Given the description of an element on the screen output the (x, y) to click on. 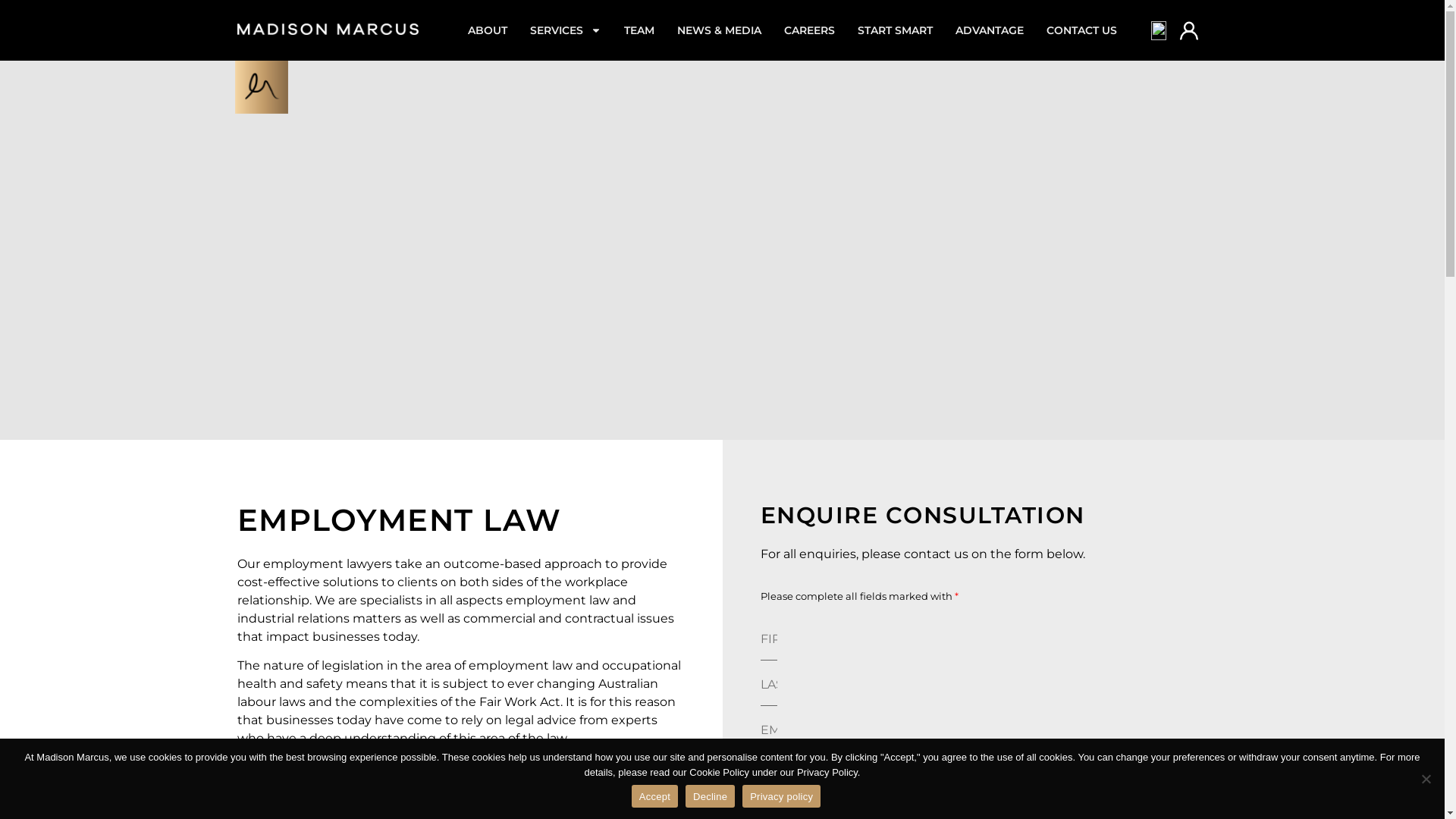
ABOUT Element type: text (487, 30)
CONTACT US Element type: text (1081, 30)
Decline Element type: text (709, 795)
NEWS & MEDIA Element type: text (718, 30)
Accept Element type: text (654, 795)
Privacy policy Element type: text (781, 795)
SERVICES Element type: text (565, 30)
ADVANTAGE Element type: text (989, 30)
TEAM Element type: text (638, 30)
CAREERS Element type: text (809, 30)
Decline Element type: hover (1425, 778)
START SMART Element type: text (895, 30)
